Given the description of an element on the screen output the (x, y) to click on. 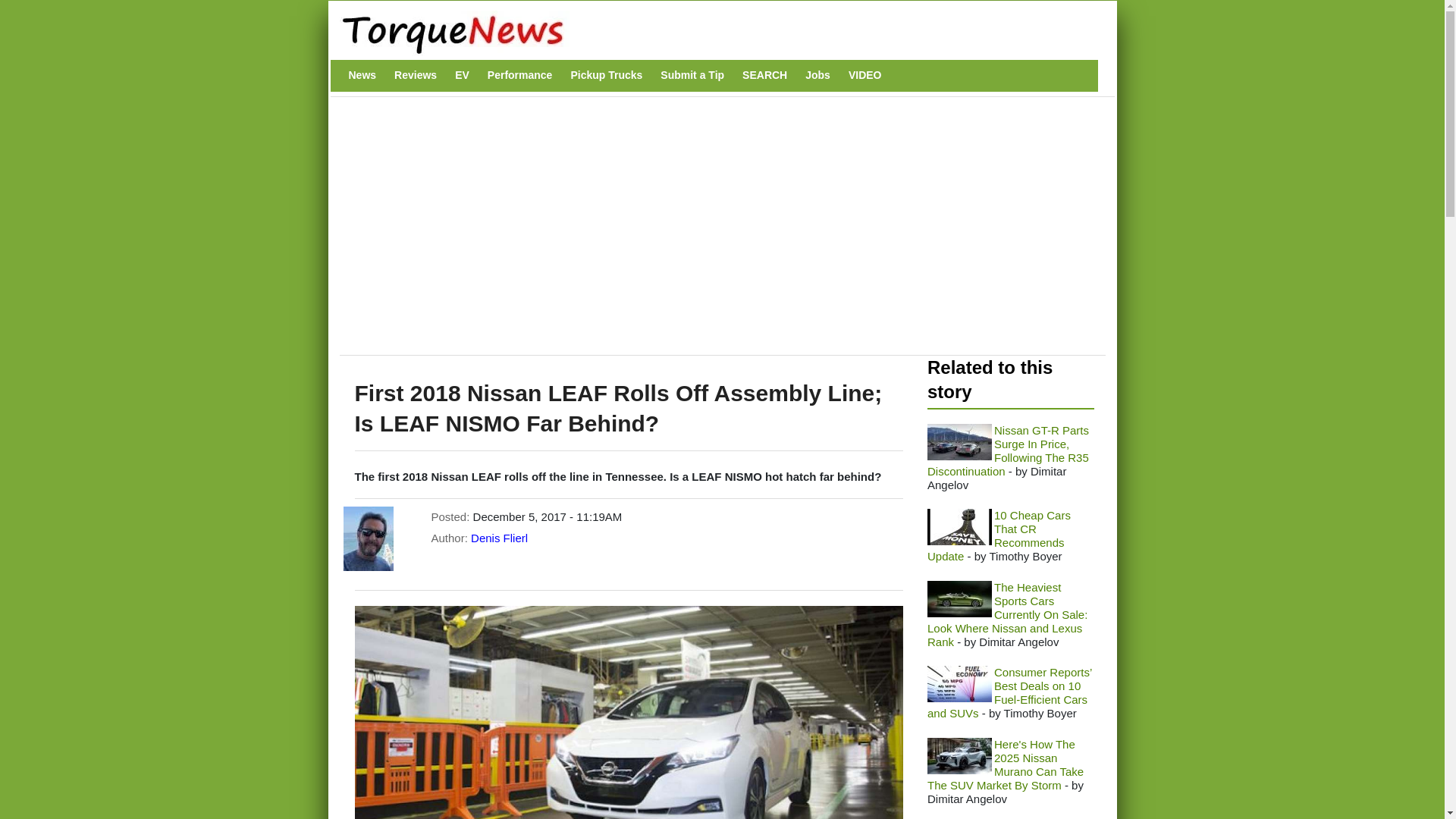
Pickup Trucks (605, 75)
Automotive journalism jobs and careers are TorqueNews.com. (817, 75)
Reviews (415, 75)
Performance (520, 75)
Jobs (817, 75)
SEARCH (764, 75)
News (362, 75)
VIDEO (865, 75)
Home (713, 32)
Submit a Tip (691, 75)
View user profile. (498, 537)
News (362, 75)
Denis Flierl (498, 537)
Advertisement (624, 233)
